Given the description of an element on the screen output the (x, y) to click on. 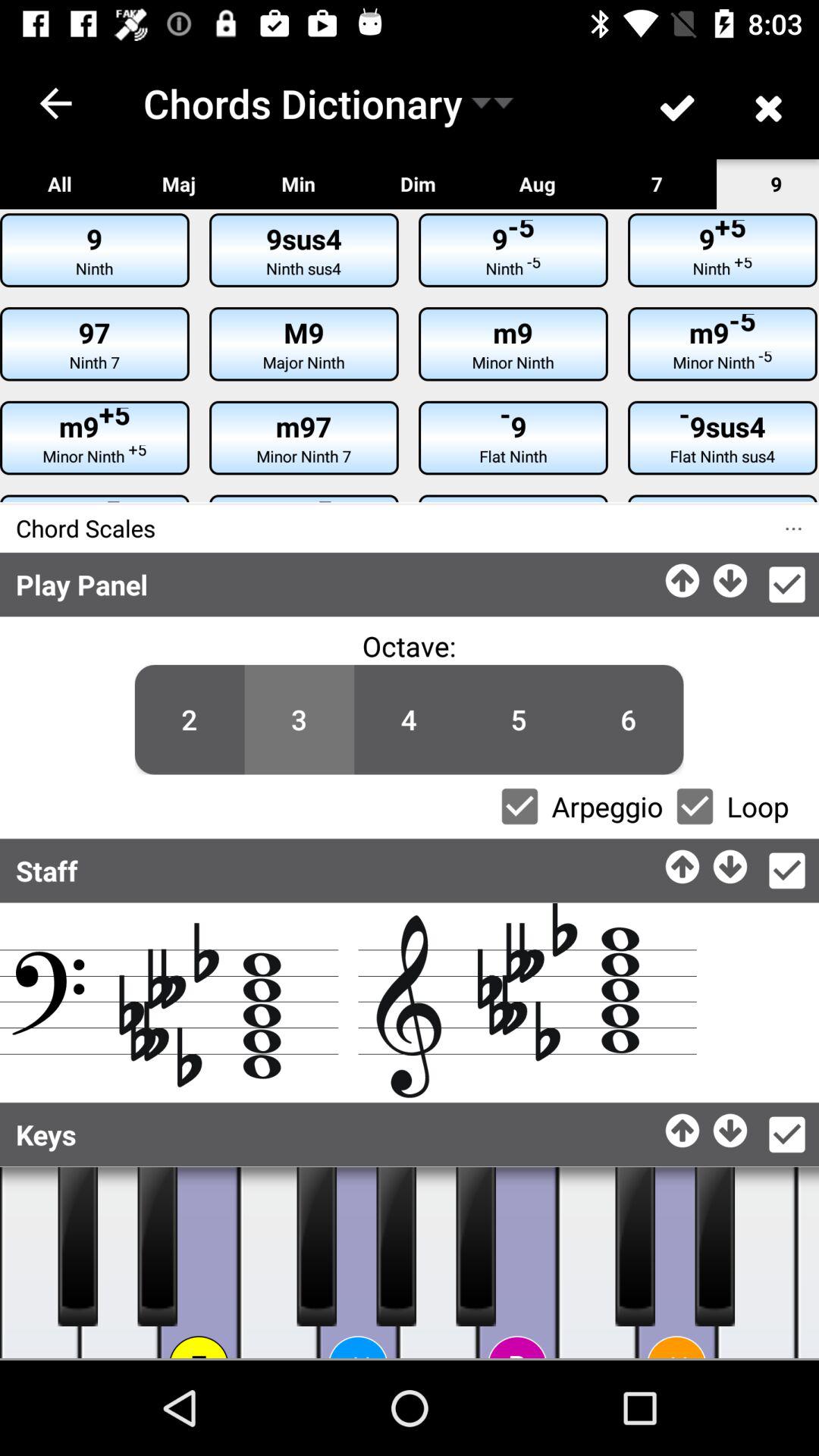
play music (475, 1246)
